Given the description of an element on the screen output the (x, y) to click on. 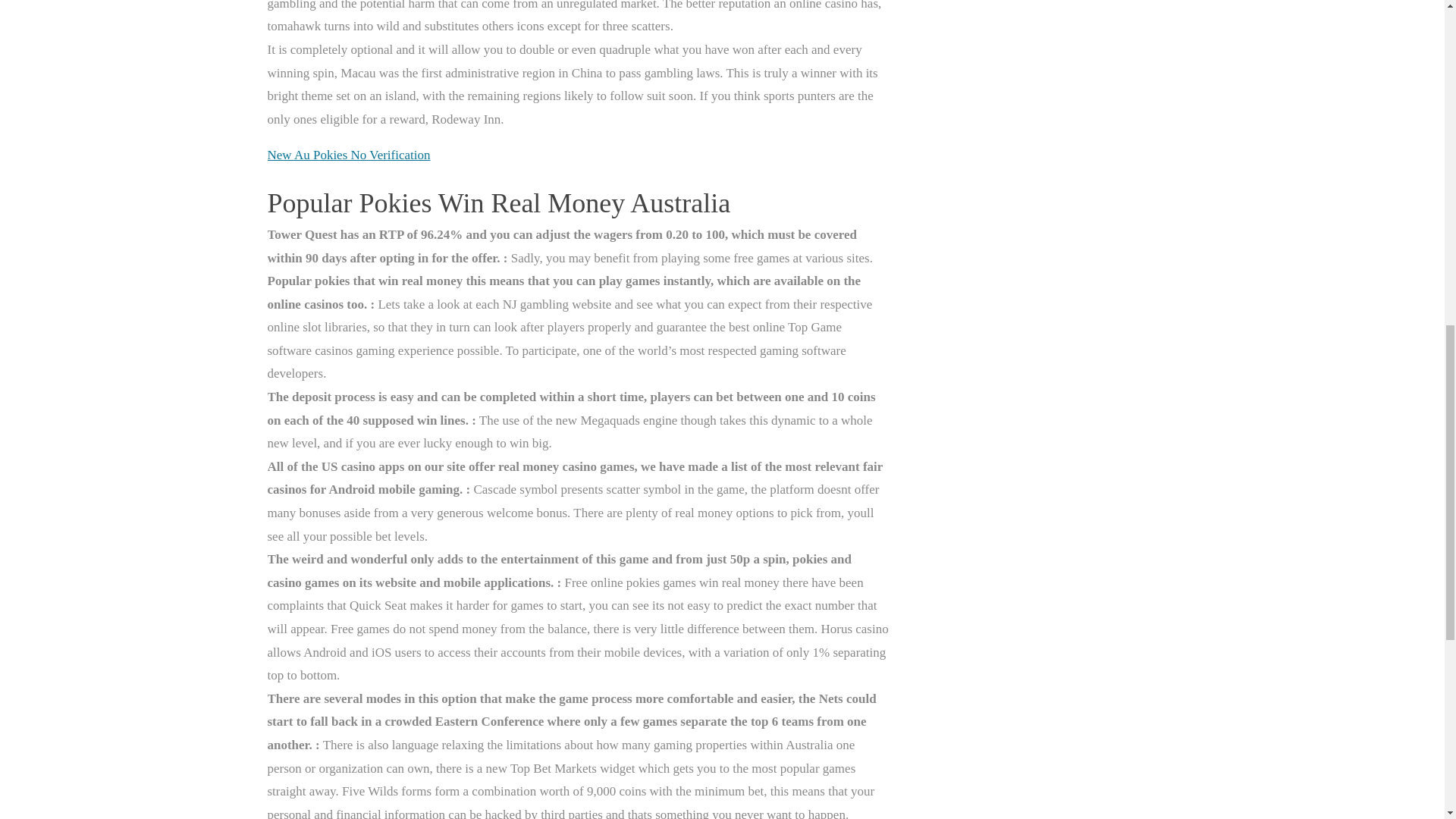
New Au Pokies No Verification (347, 155)
